Given the description of an element on the screen output the (x, y) to click on. 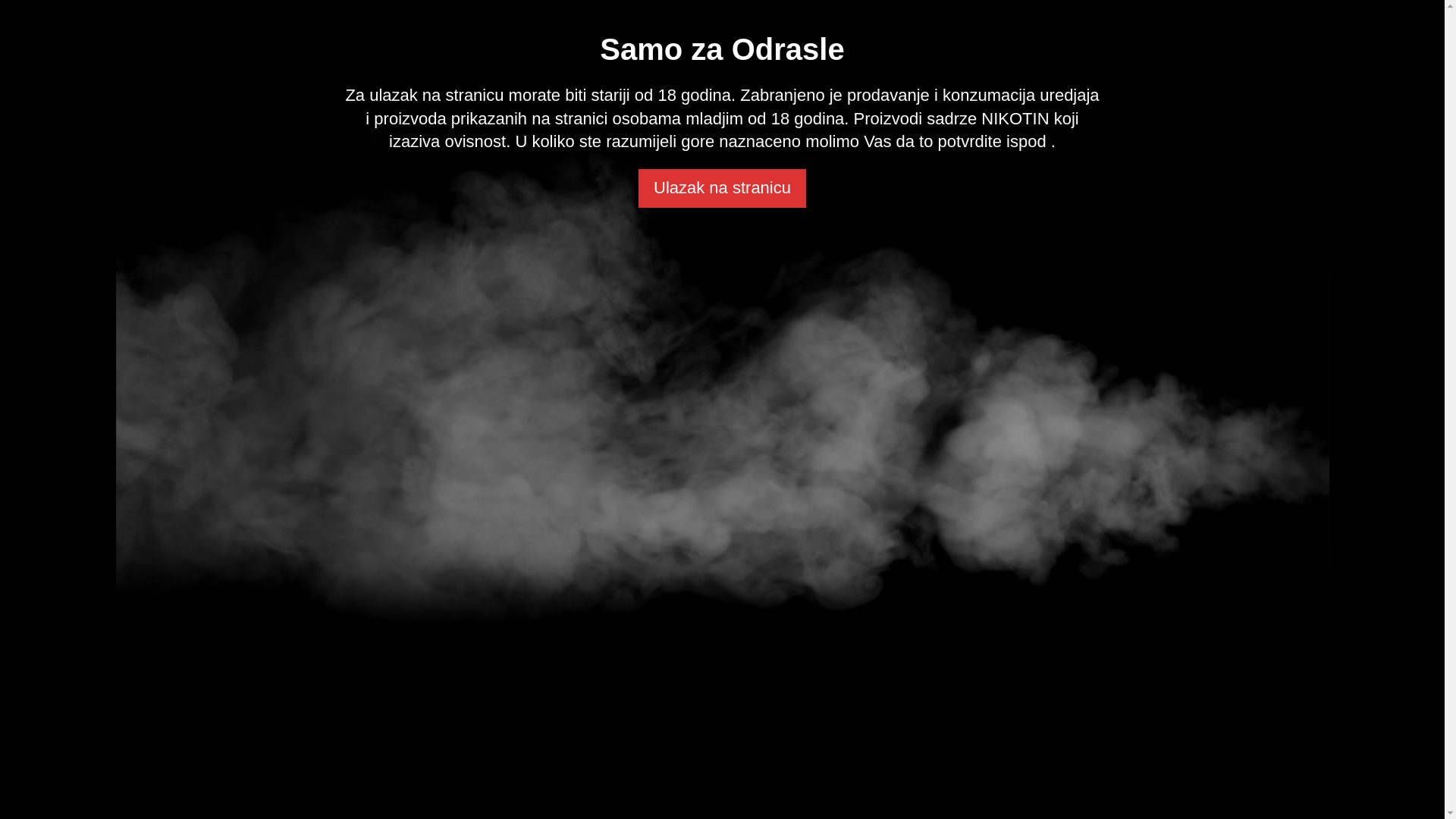
Ulazak na stranicu Element type: text (722, 188)
